Given the description of an element on the screen output the (x, y) to click on. 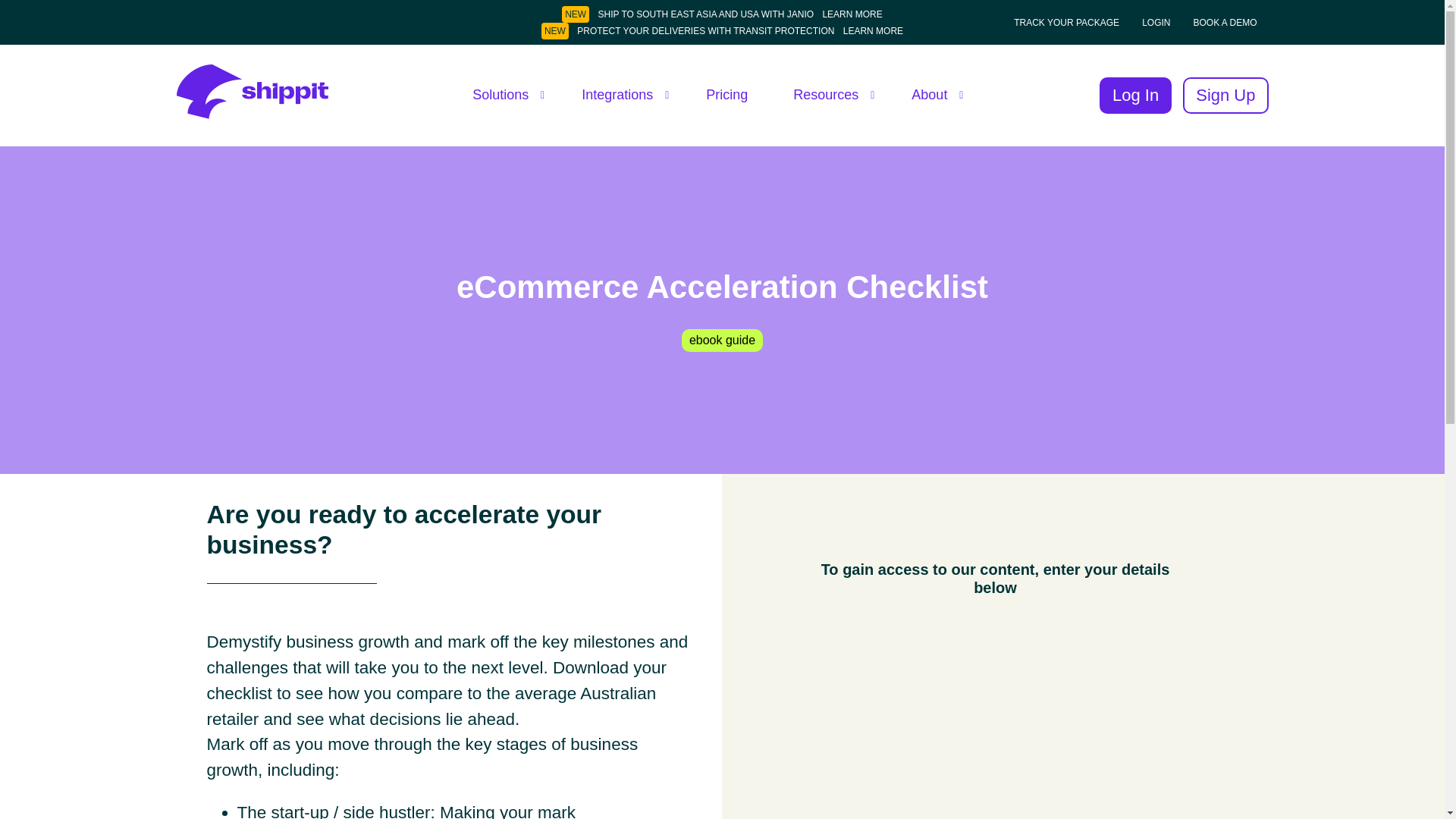
Sign Up (1225, 94)
LEARN MORE (872, 30)
Resources (829, 95)
Pricing (726, 95)
LEARN MORE (852, 14)
Log In (1135, 94)
LOGIN (1156, 22)
About (932, 95)
TRACK YOUR PACKAGE (1067, 22)
BOOK A DEMO (1225, 22)
Integrations (620, 95)
Solutions (504, 95)
